Given the description of an element on the screen output the (x, y) to click on. 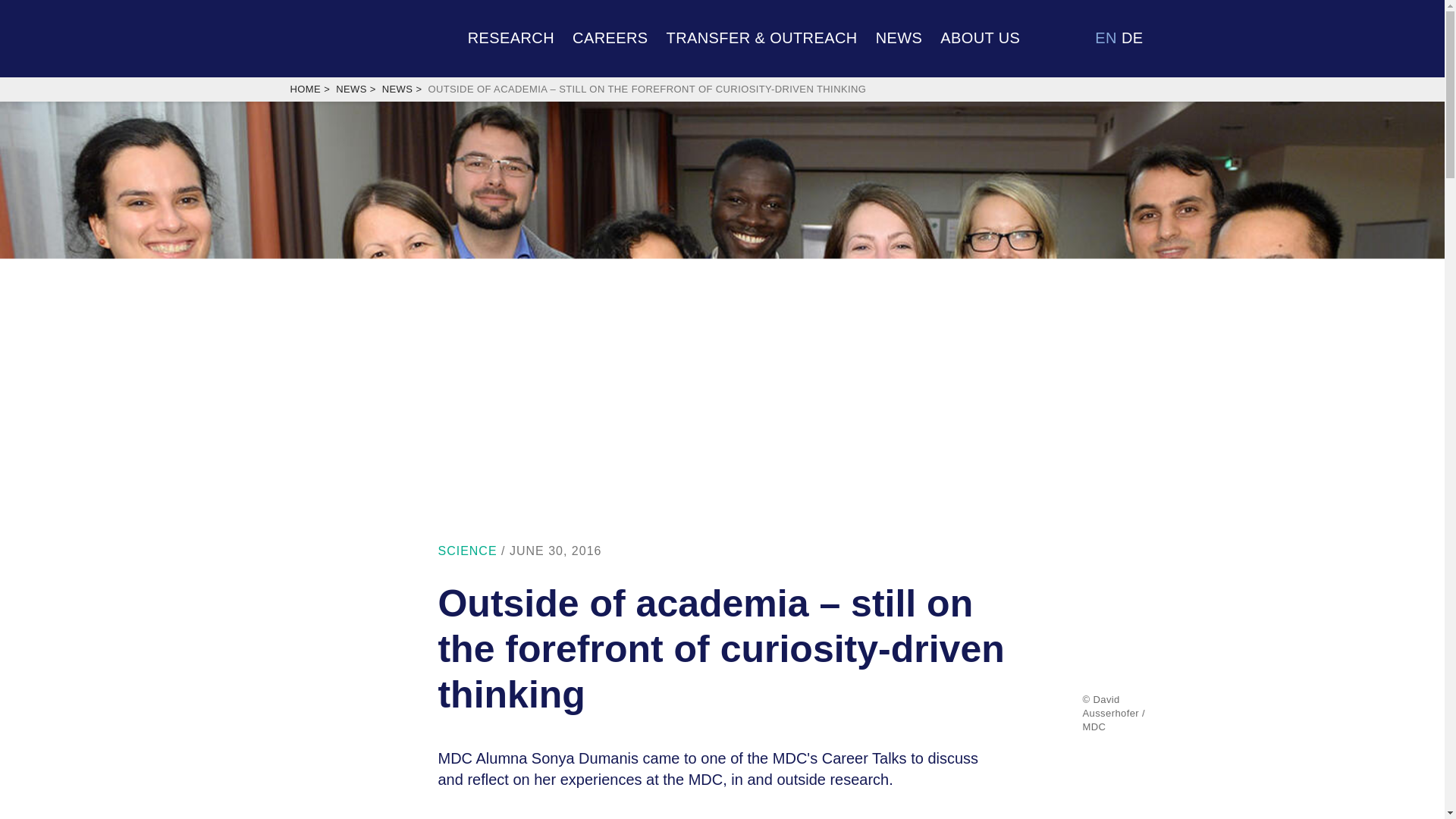
Deutsch (1131, 37)
CAREERS (610, 36)
English (1105, 37)
RESEARCH (510, 36)
